Given the description of an element on the screen output the (x, y) to click on. 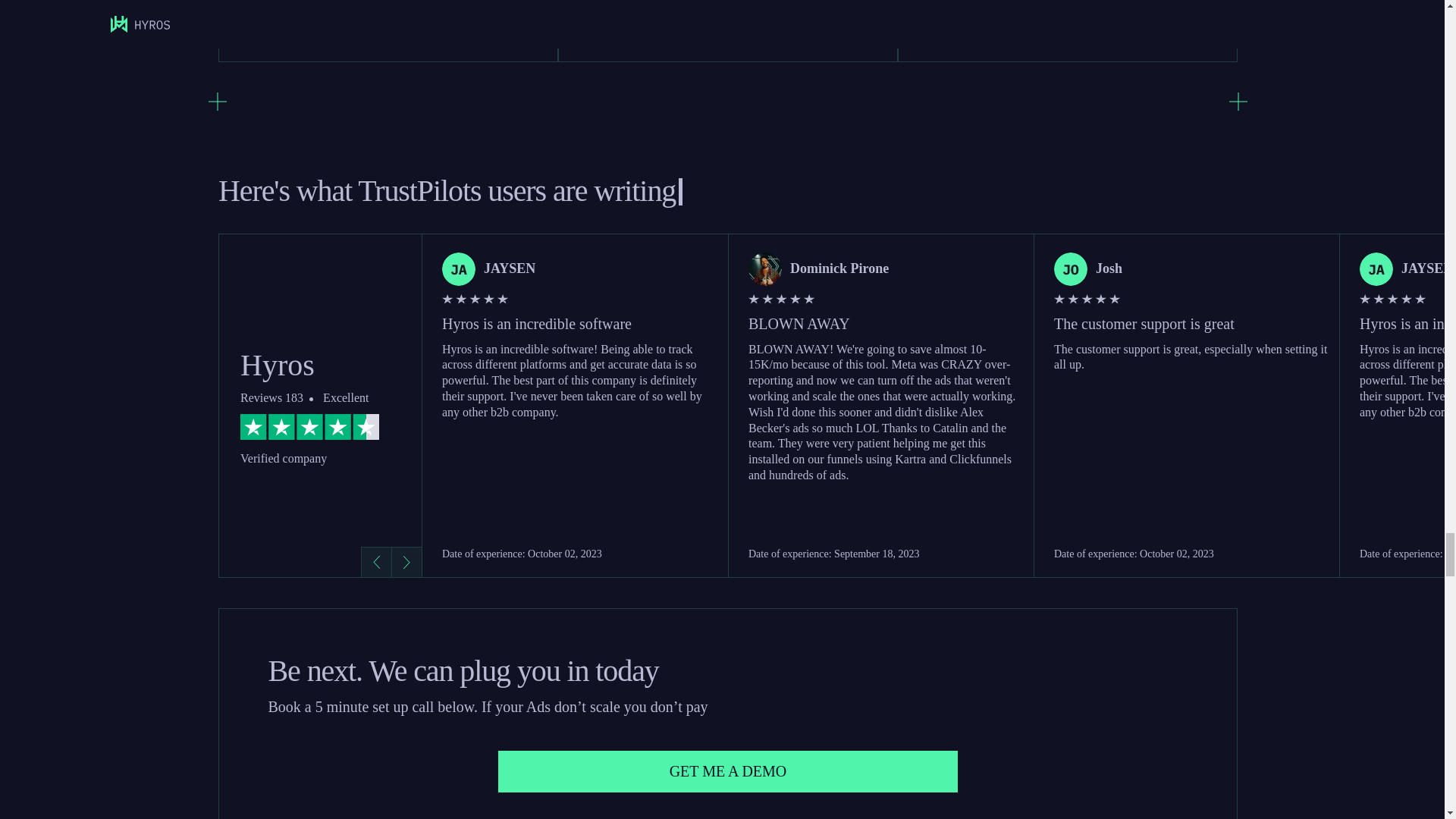
Next (406, 562)
GET ME A DEMO (727, 771)
Previous (376, 562)
